Given the description of an element on the screen output the (x, y) to click on. 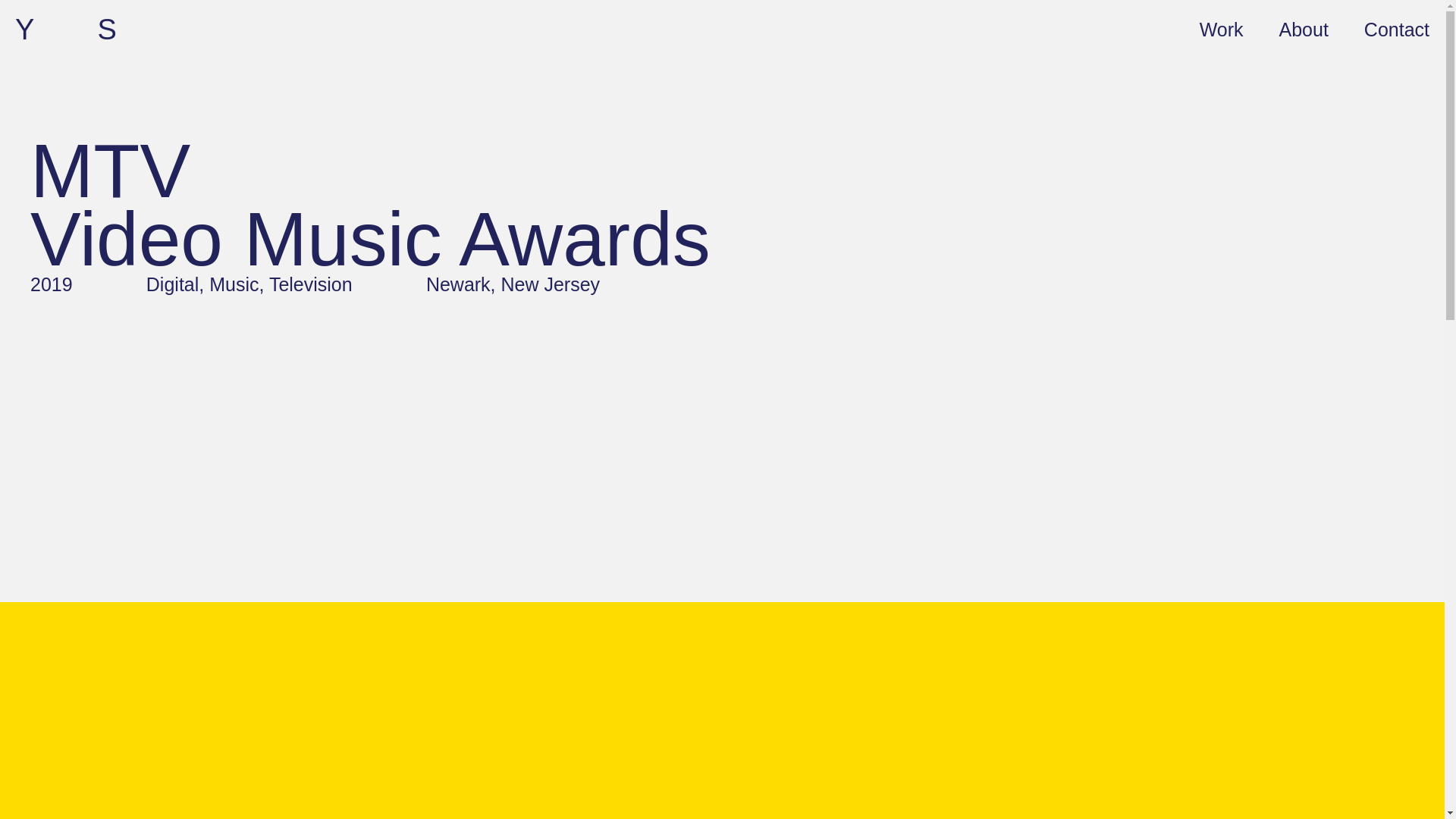
YS (96, 29)
Contact (1396, 28)
Work (1221, 28)
About (1303, 28)
